Given the description of an element on the screen output the (x, y) to click on. 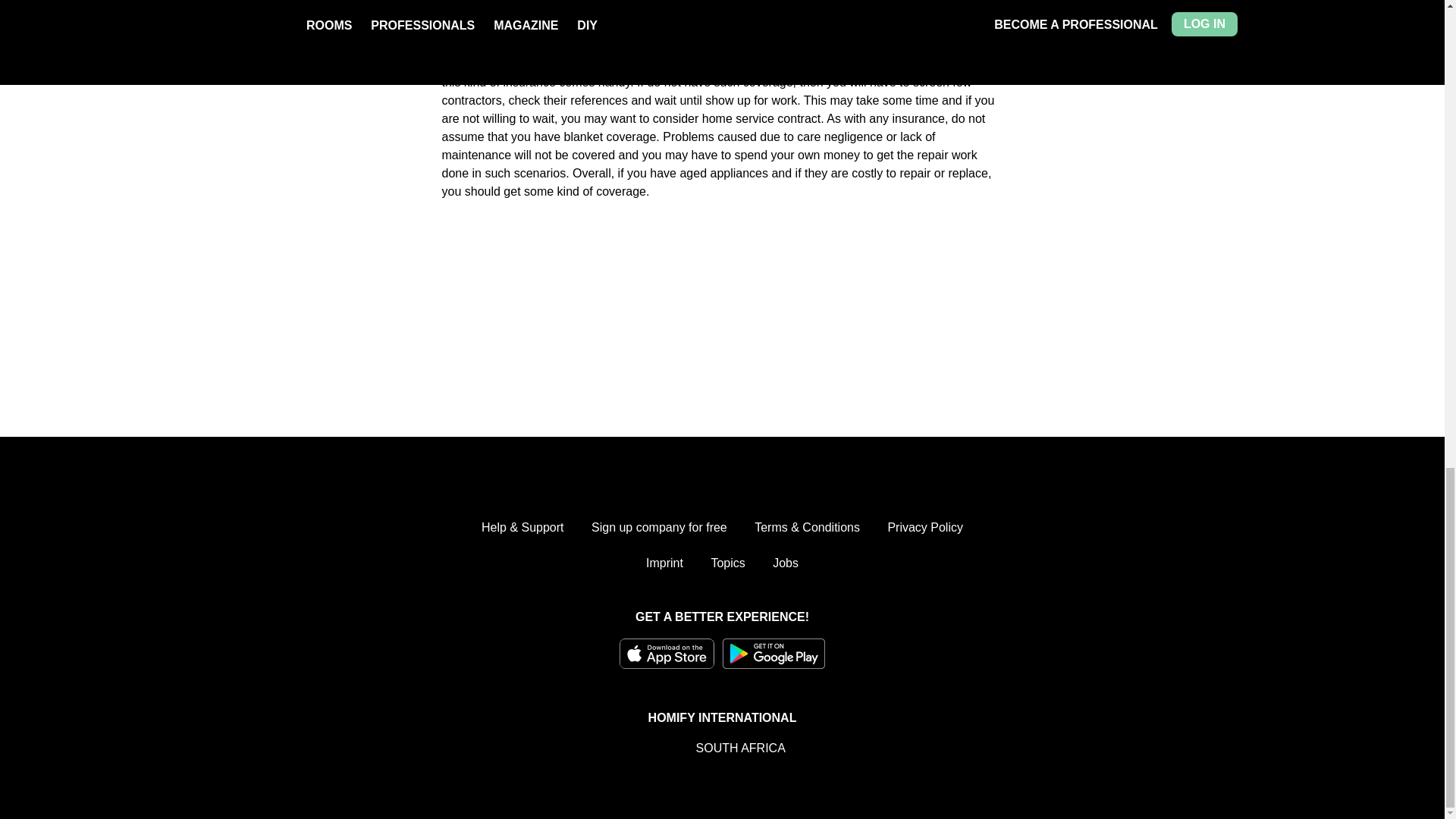
Jobs (785, 563)
Sign up company for free (658, 527)
Imprint (664, 563)
Topics (727, 563)
Privacy Policy (924, 527)
